Given the description of an element on the screen output the (x, y) to click on. 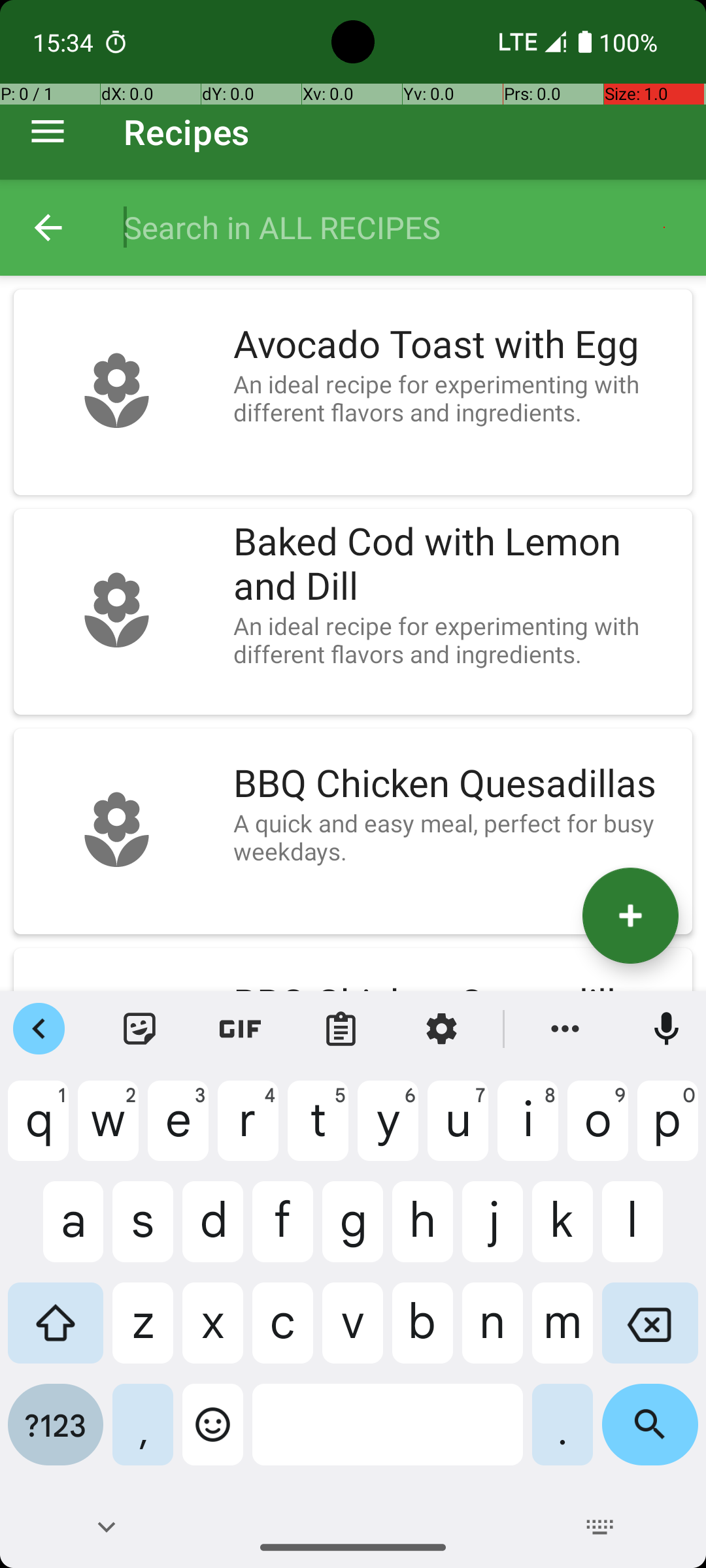
Search in ALL RECIPES Element type: android.widget.AutoCompleteTextView (400, 227)
